Given the description of an element on the screen output the (x, y) to click on. 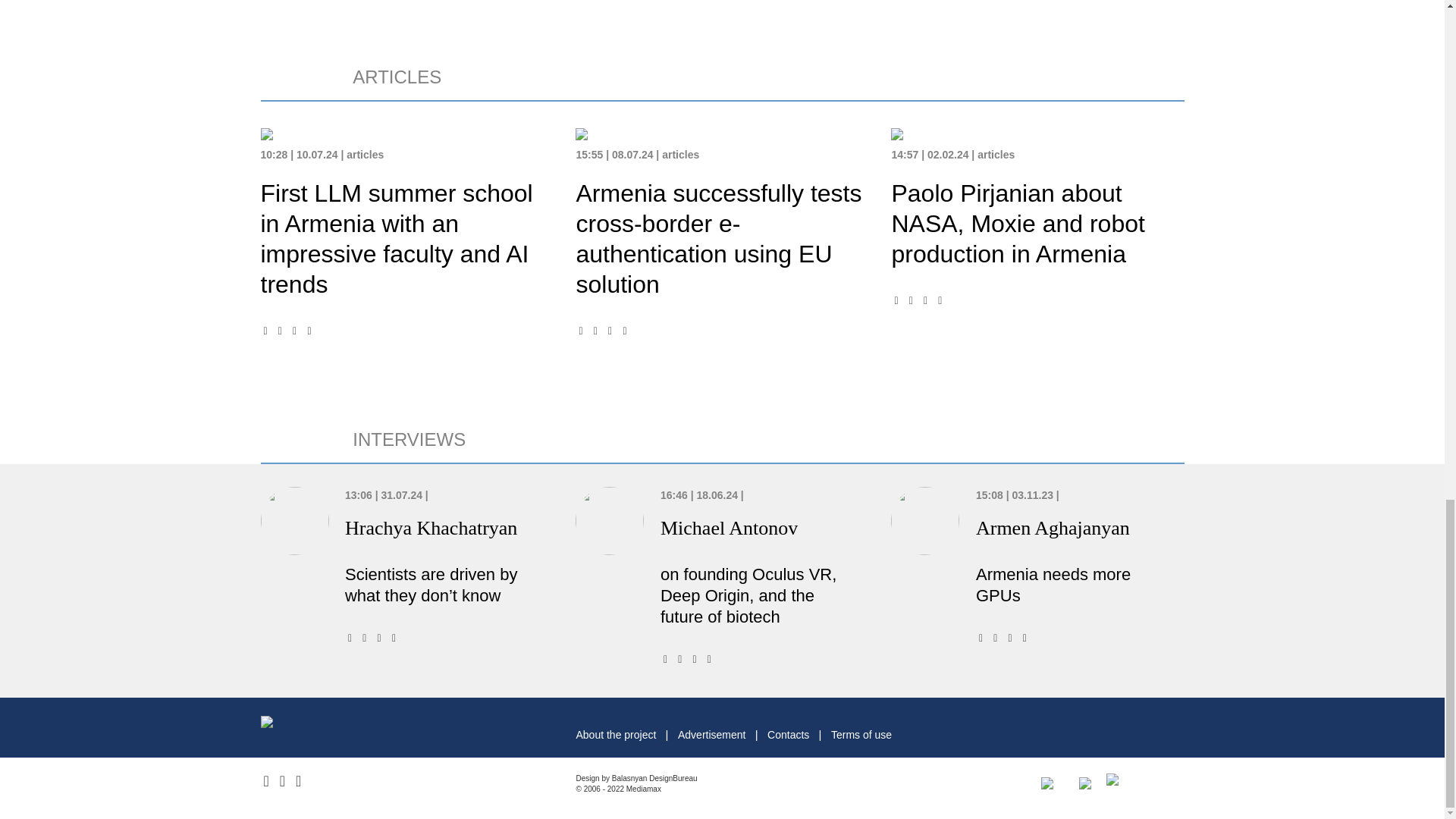
Security audit by CYBER GATES (1084, 781)
